Given the description of an element on the screen output the (x, y) to click on. 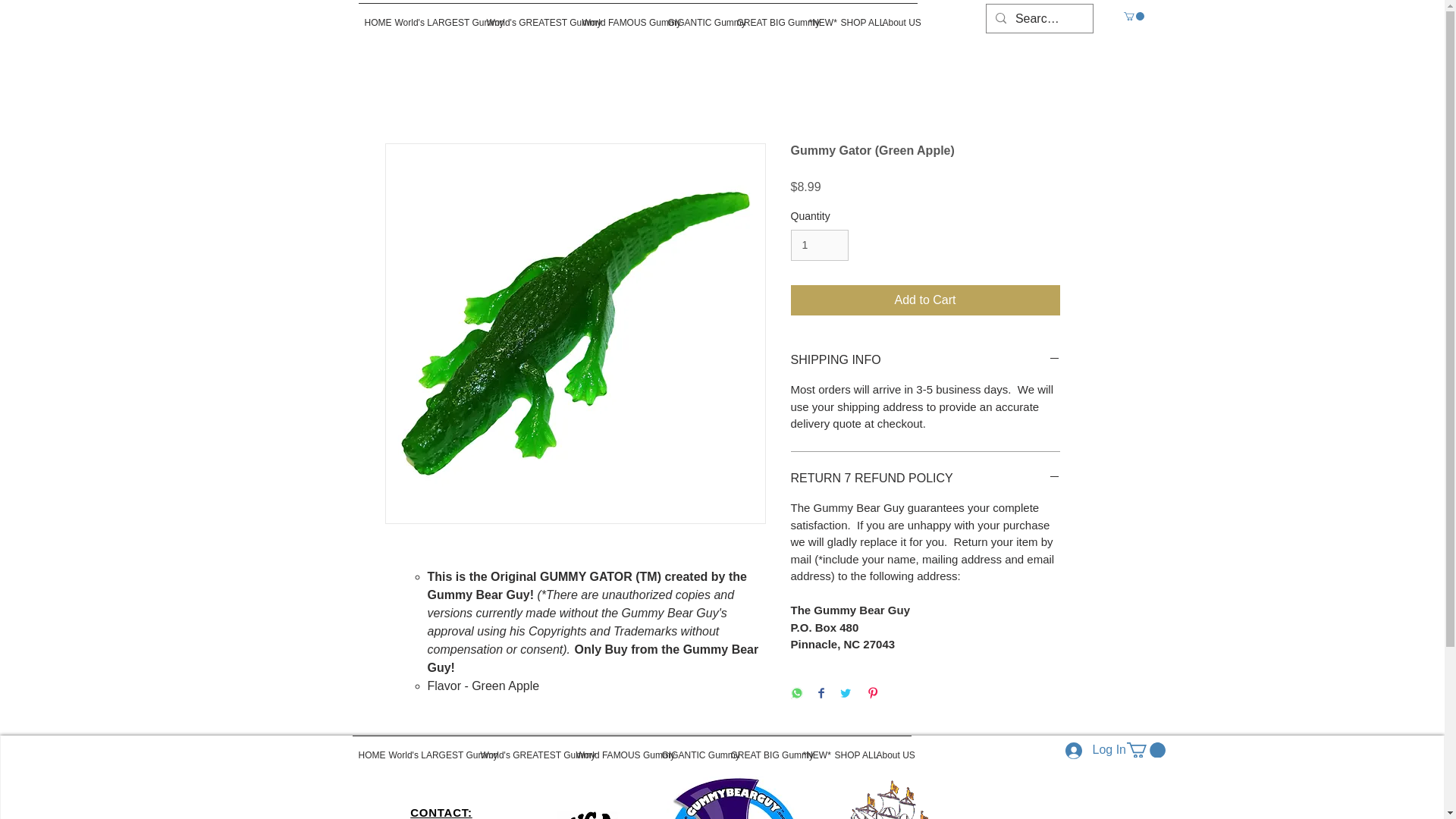
World FAMOUS Gummy (619, 15)
SHIPPING INFO (924, 360)
Add to Cart (924, 300)
World's LARGEST Gummy (434, 15)
GIGANTIC Gummy (695, 15)
GIGANTIC Gummy (689, 748)
World's GREATEST Gummy (522, 748)
World's GREATEST Gummy (528, 15)
SHOP ALL (855, 15)
Log In (1087, 749)
About US (896, 15)
RETURN 7 REFUND POLICY (924, 478)
HOME (373, 15)
GREAT BIG Gummy (766, 15)
HOME (366, 748)
